Given the description of an element on the screen output the (x, y) to click on. 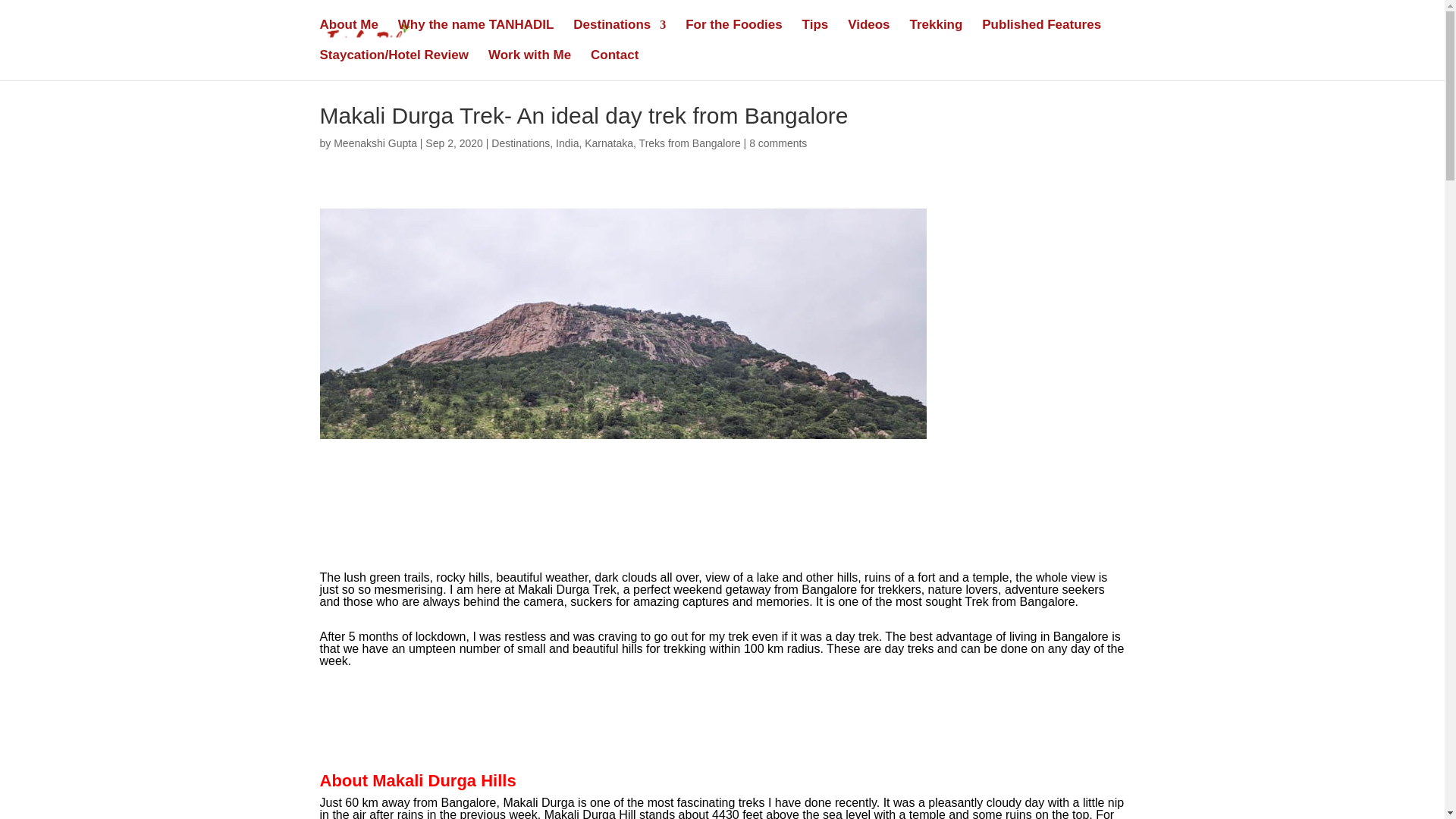
For the Foodies (734, 34)
Contact (615, 64)
Work with Me (528, 64)
Videos (868, 34)
Treks from Bangalore (690, 143)
Published Features (1040, 34)
About Me (349, 34)
Trekking (935, 34)
Posts by Meenakshi Gupta (374, 143)
Meenakshi Gupta (374, 143)
